Given the description of an element on the screen output the (x, y) to click on. 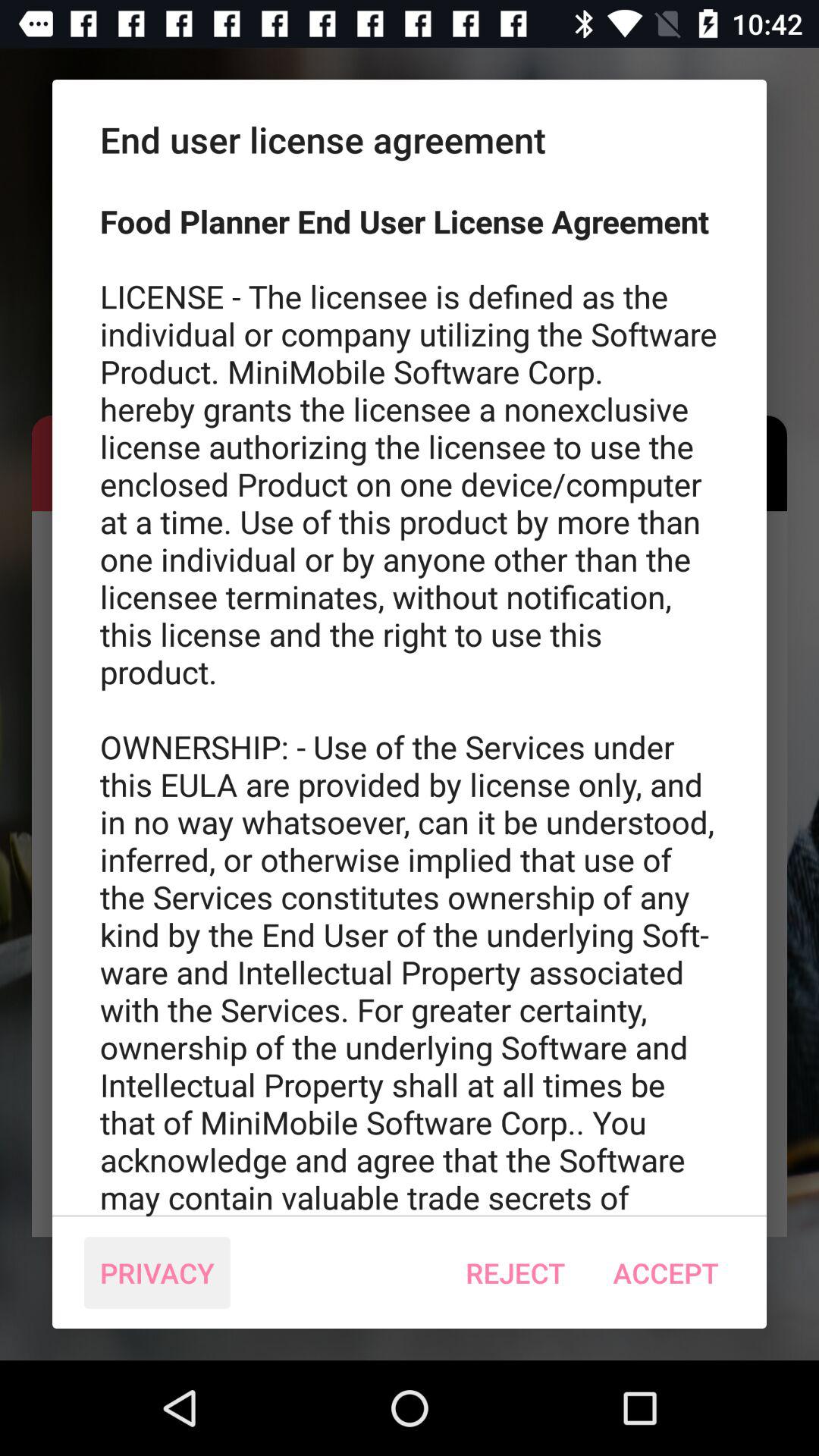
select the icon to the right of the reject (665, 1272)
